Given the description of an element on the screen output the (x, y) to click on. 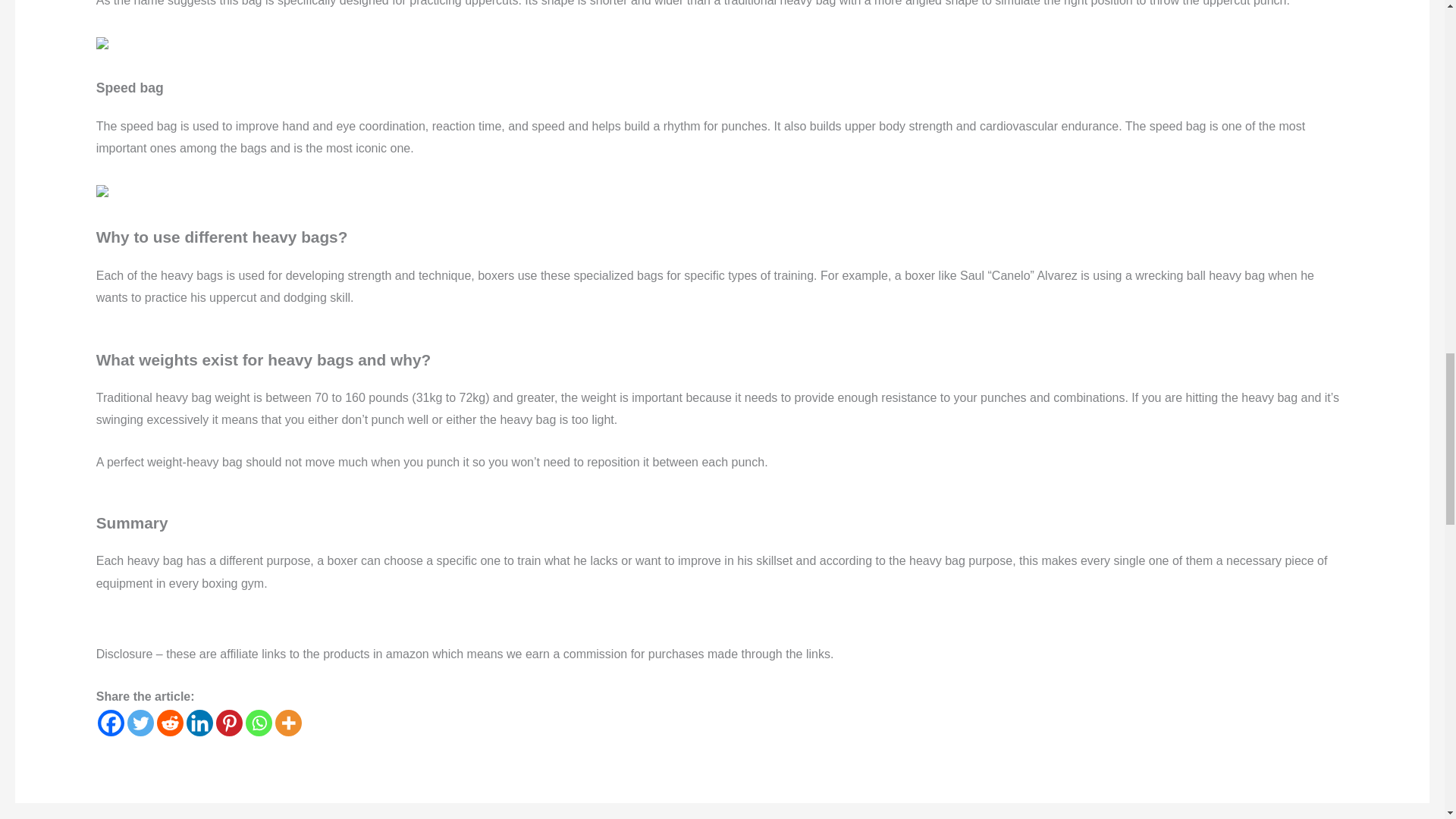
Twitter (141, 723)
Reddit (170, 723)
Pinterest (229, 723)
Linkedin (199, 723)
More (288, 723)
Whatsapp (259, 723)
Facebook (110, 723)
